Given the description of an element on the screen output the (x, y) to click on. 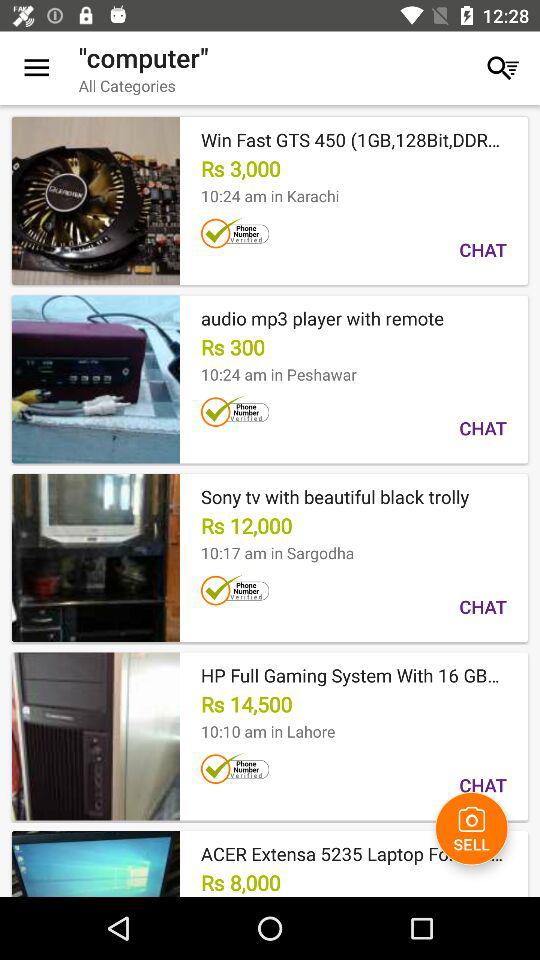
launch the icon below hp full gaming item (471, 828)
